Given the description of an element on the screen output the (x, y) to click on. 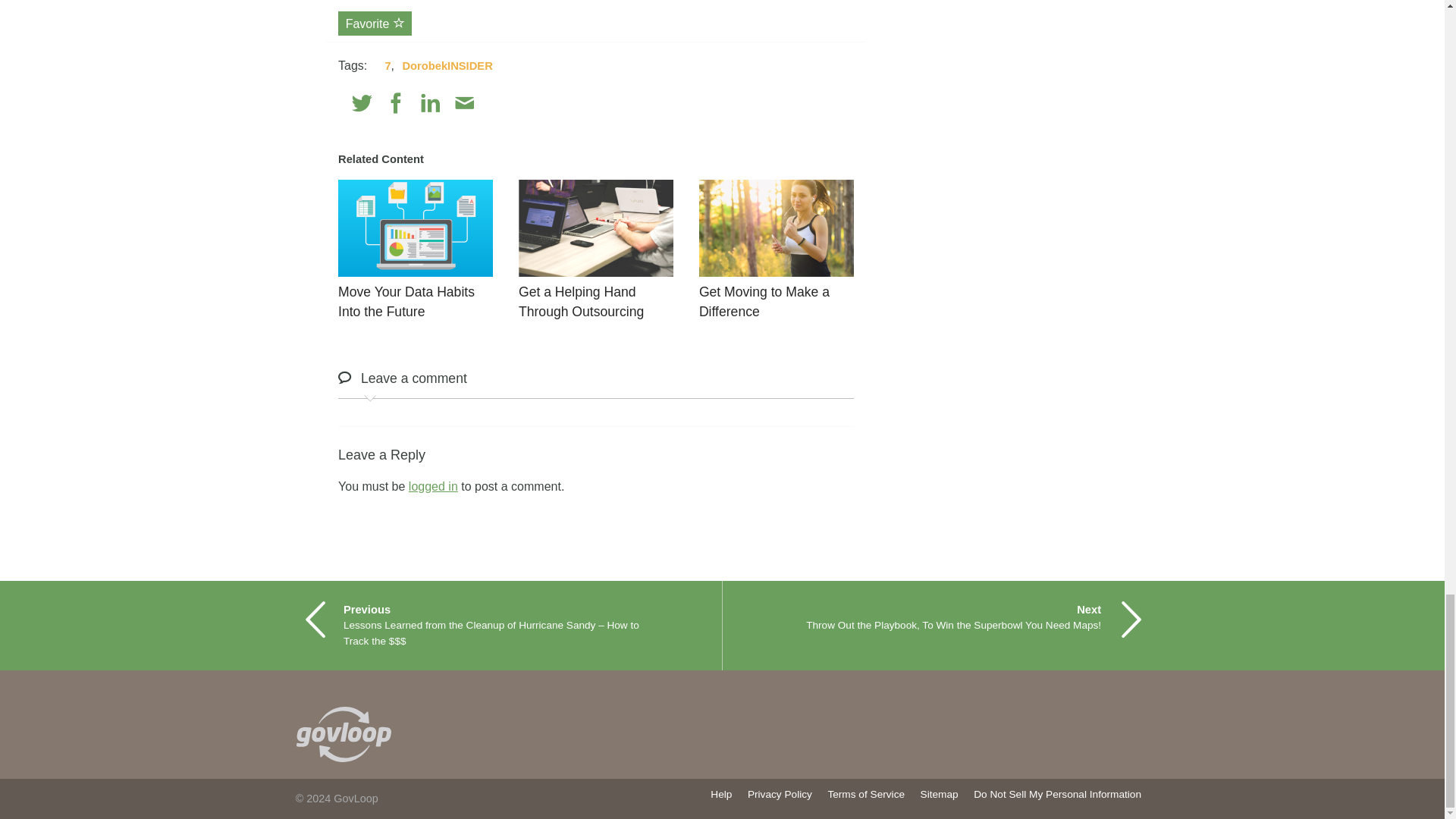
Facebook (395, 103)
Print (497, 103)
Twitter (362, 103)
Email (464, 103)
Linkedin (430, 103)
